Given the description of an element on the screen output the (x, y) to click on. 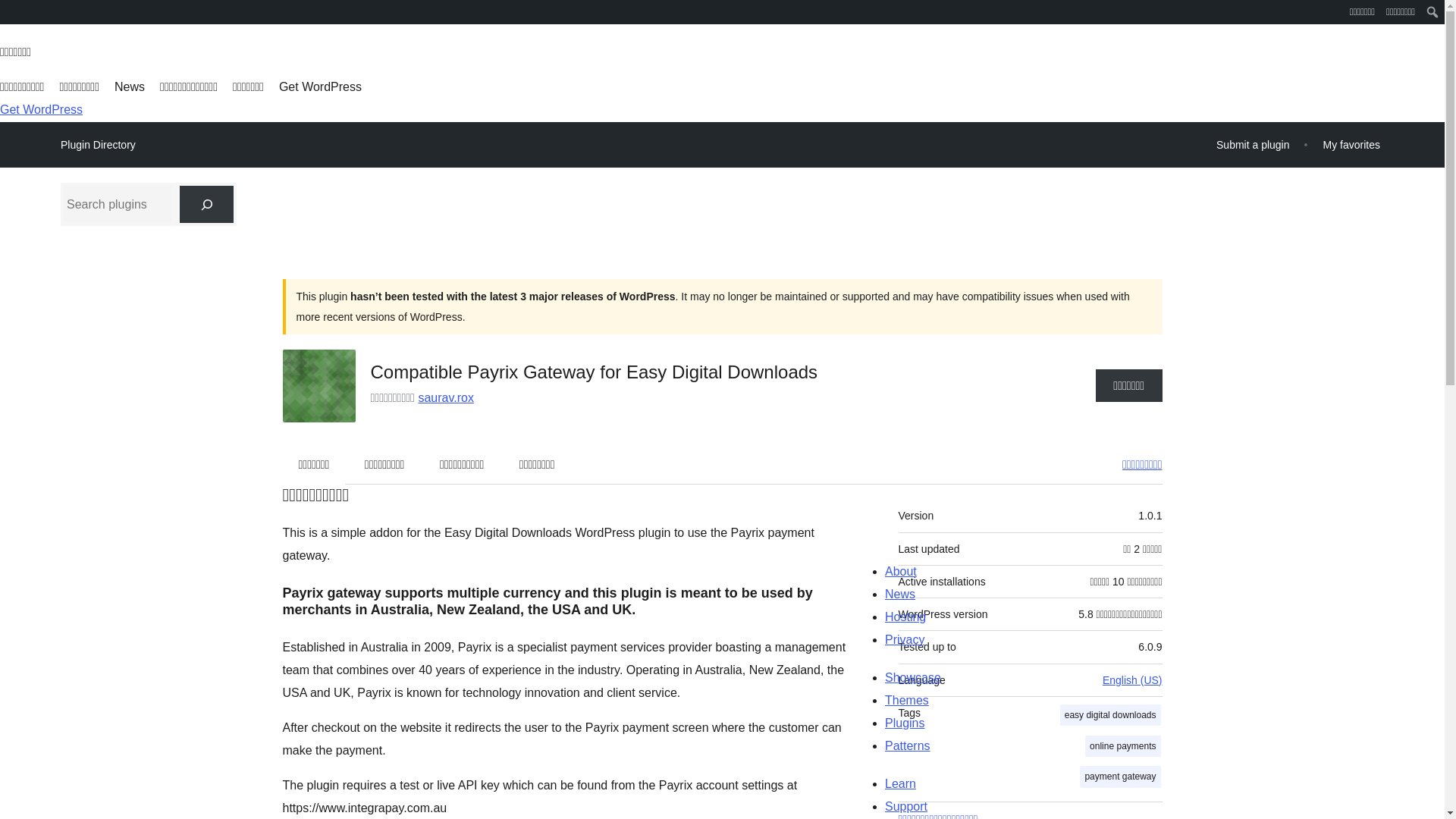
Get WordPress (41, 109)
Submit a plugin (1253, 144)
My favorites (1351, 144)
Get WordPress (320, 87)
saurav.rox (445, 397)
WordPress.org (10, 10)
Plugin Directory (97, 144)
News (129, 87)
WordPress.org (10, 16)
